Given the description of an element on the screen output the (x, y) to click on. 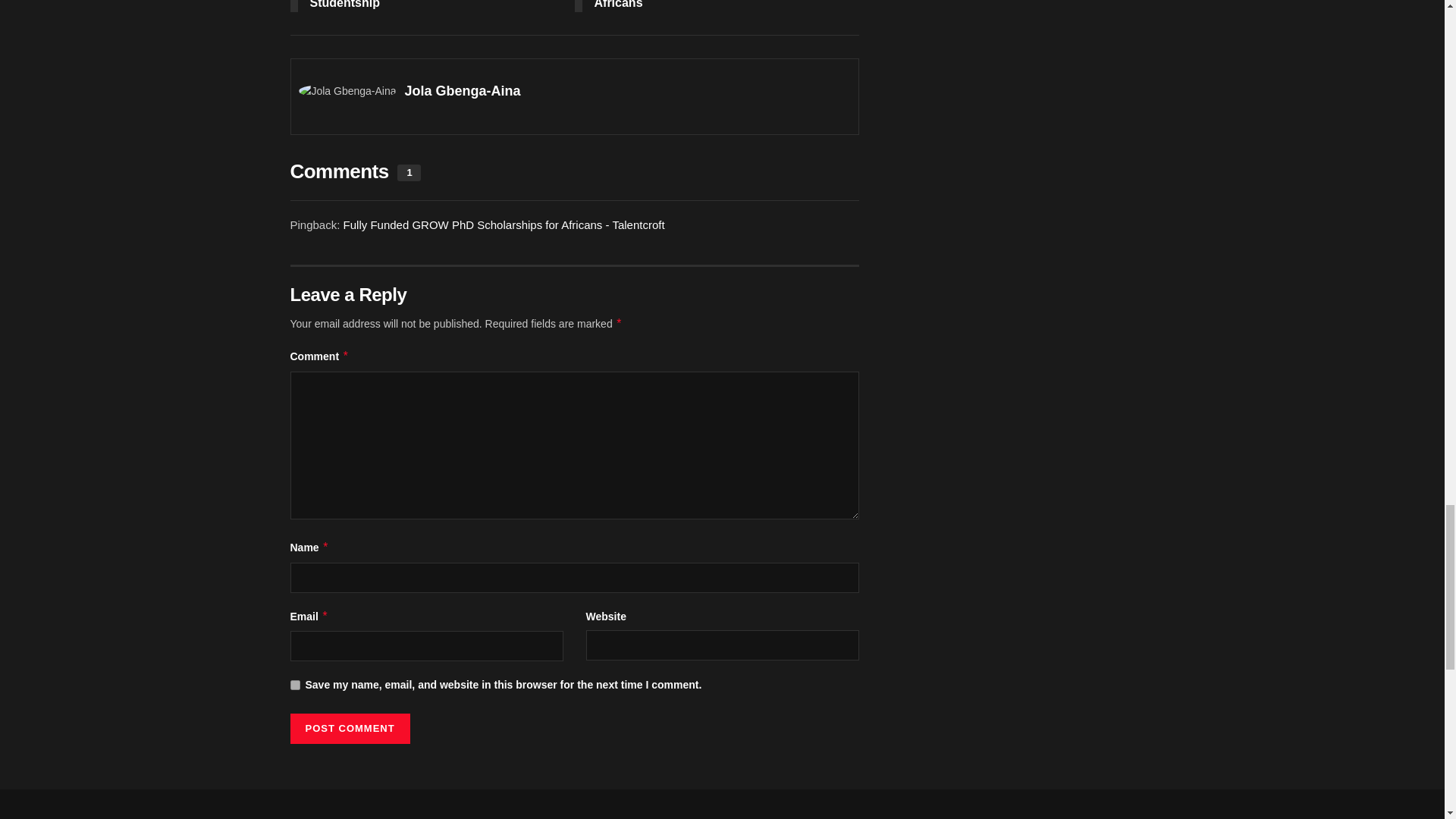
yes (294, 685)
Post Comment (349, 728)
